Given the description of an element on the screen output the (x, y) to click on. 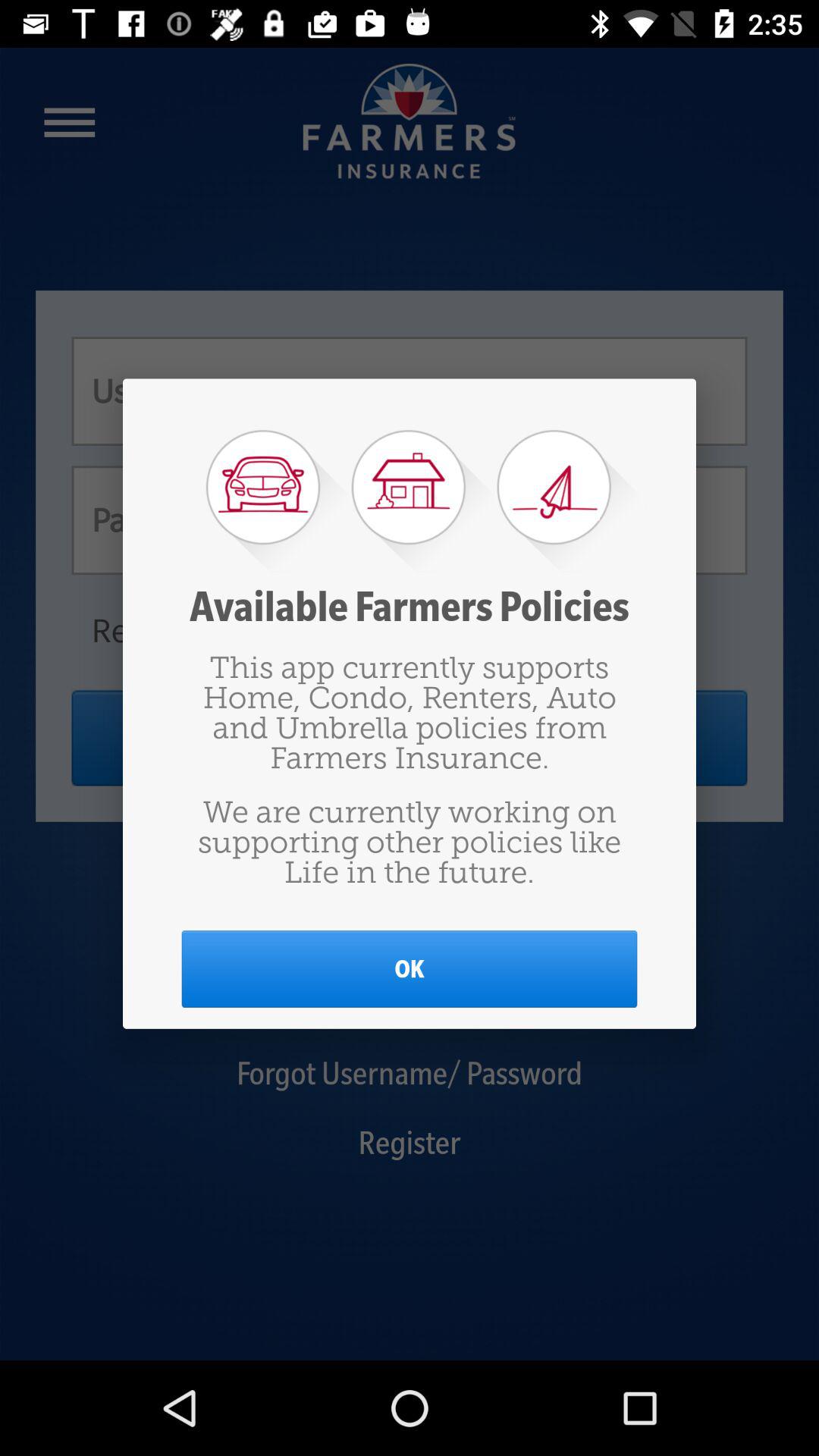
jump until the ok icon (409, 968)
